Given the description of an element on the screen output the (x, y) to click on. 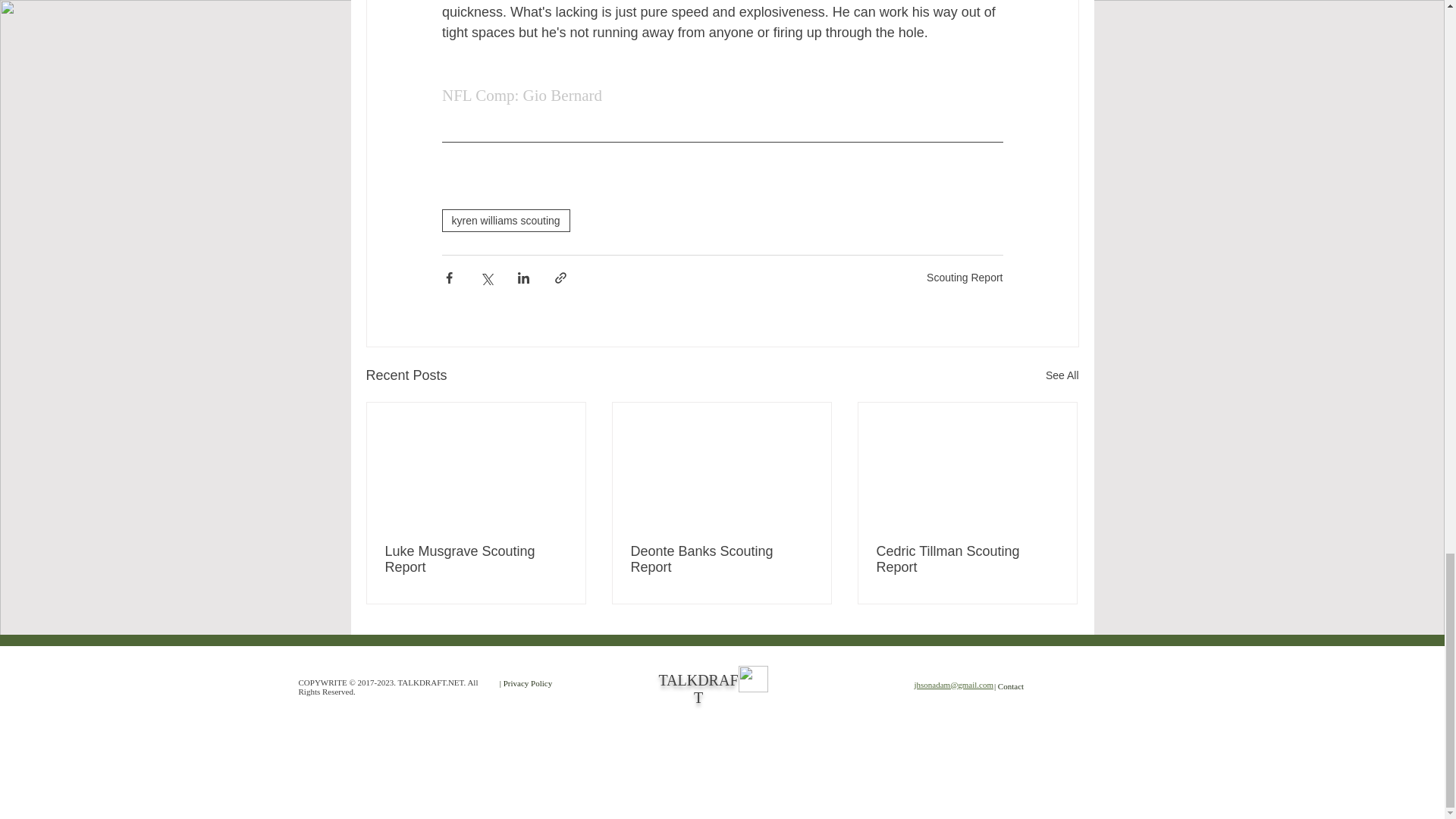
Luke Musgrave Scouting Report (476, 559)
See All (1061, 375)
Cedric Tillman Scouting Report (967, 559)
Scouting Report (964, 277)
kyren williams scouting (505, 220)
Deonte Banks Scouting Report (721, 559)
